Given the description of an element on the screen output the (x, y) to click on. 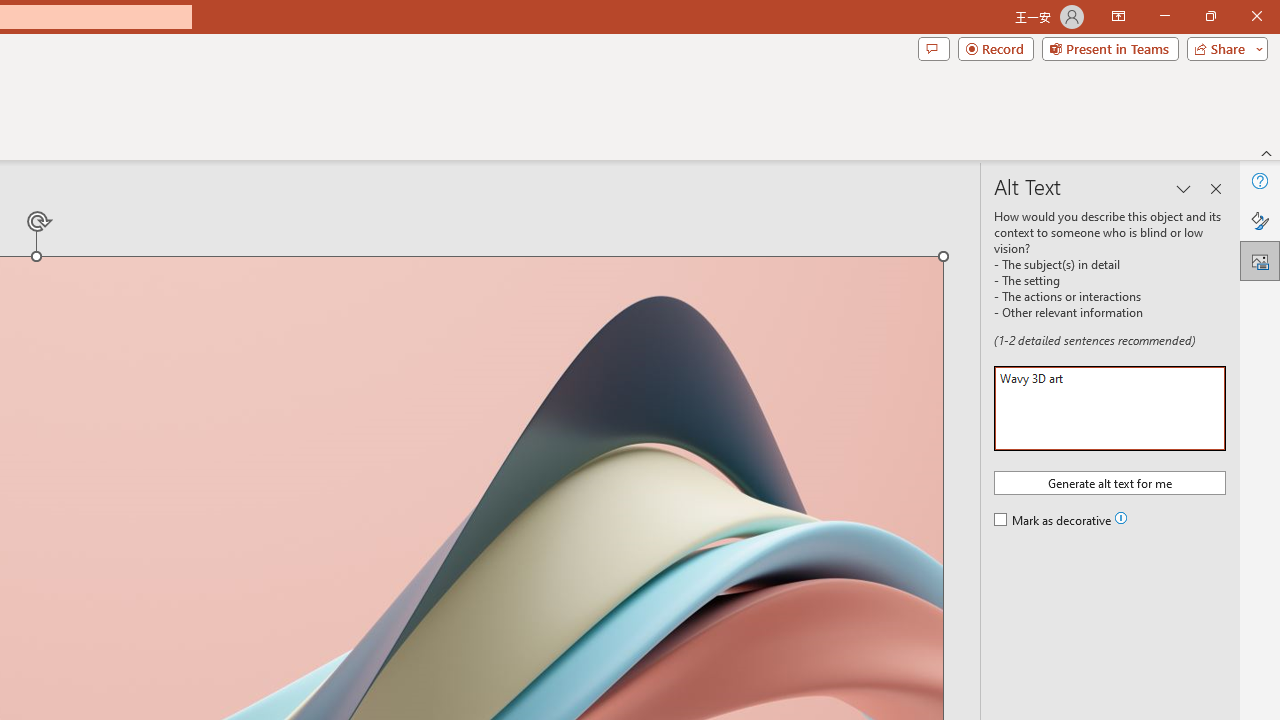
Description (1110, 408)
Generate alt text for me (1110, 482)
Format Picture (1260, 220)
